Given the description of an element on the screen output the (x, y) to click on. 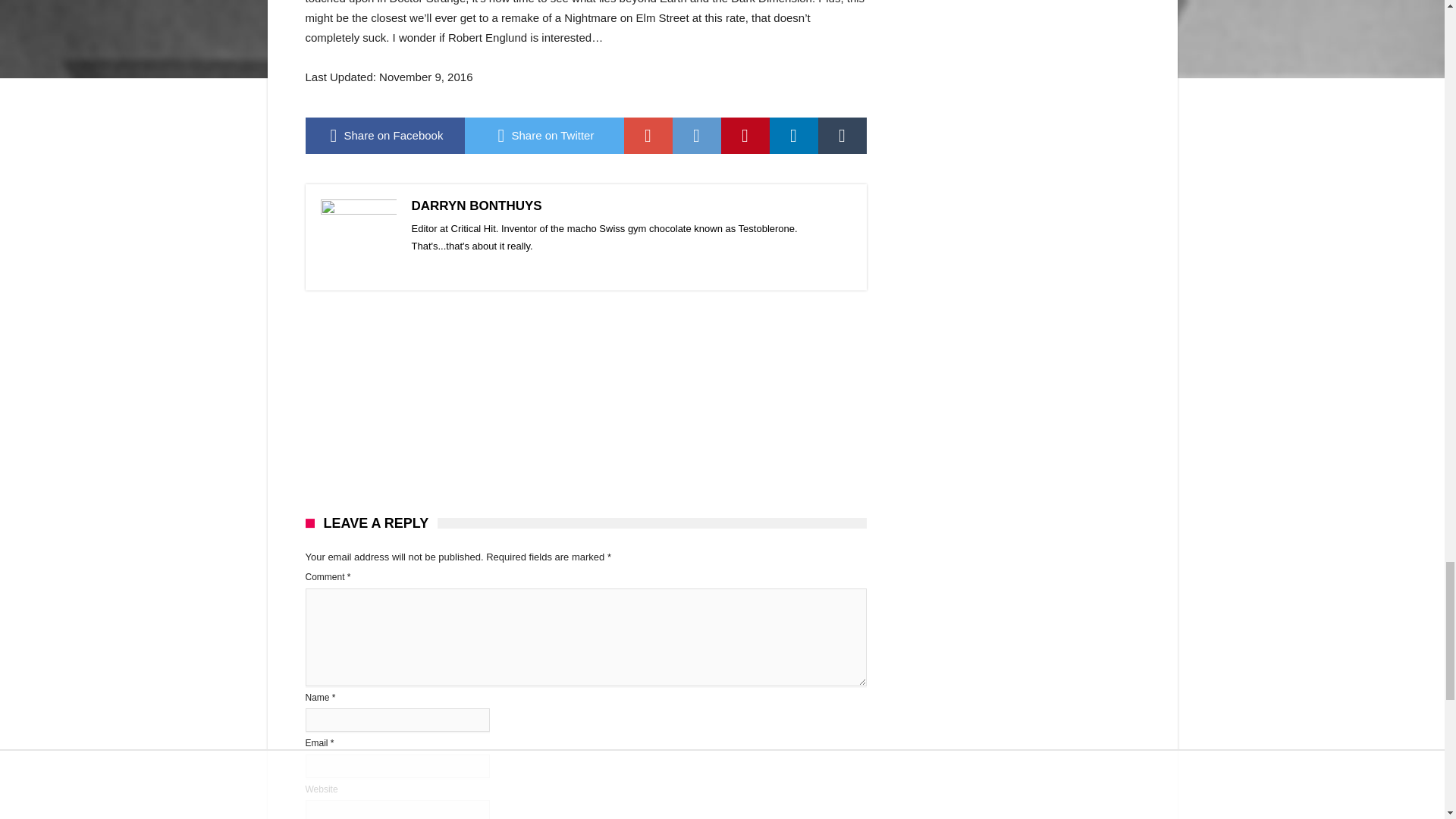
Share on Twitter (543, 135)
Share on Reddit (695, 135)
Share on Facebook (384, 135)
